Given the description of an element on the screen output the (x, y) to click on. 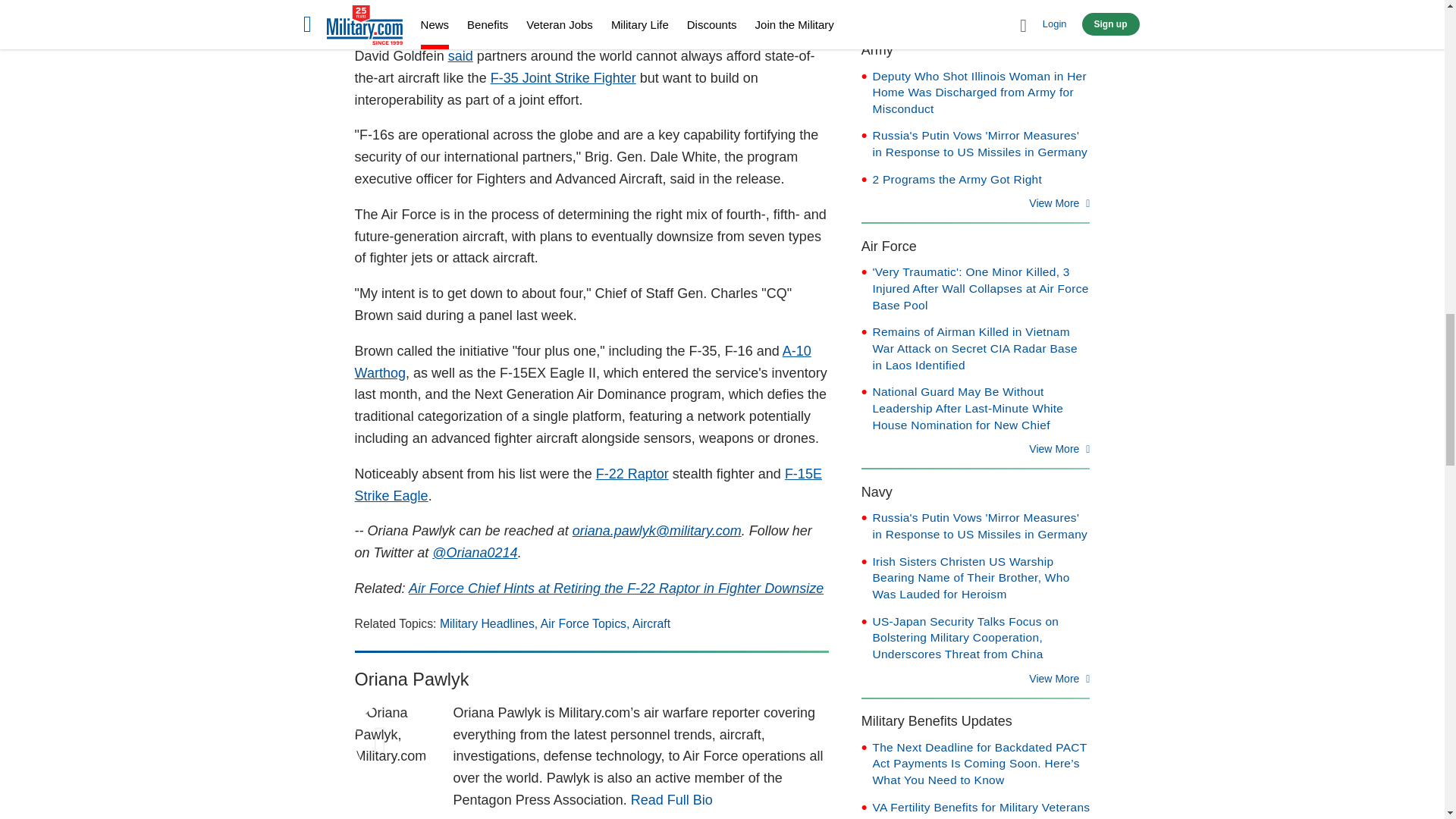
Oriana Pawlyk, Military.com (392, 739)
